Given the description of an element on the screen output the (x, y) to click on. 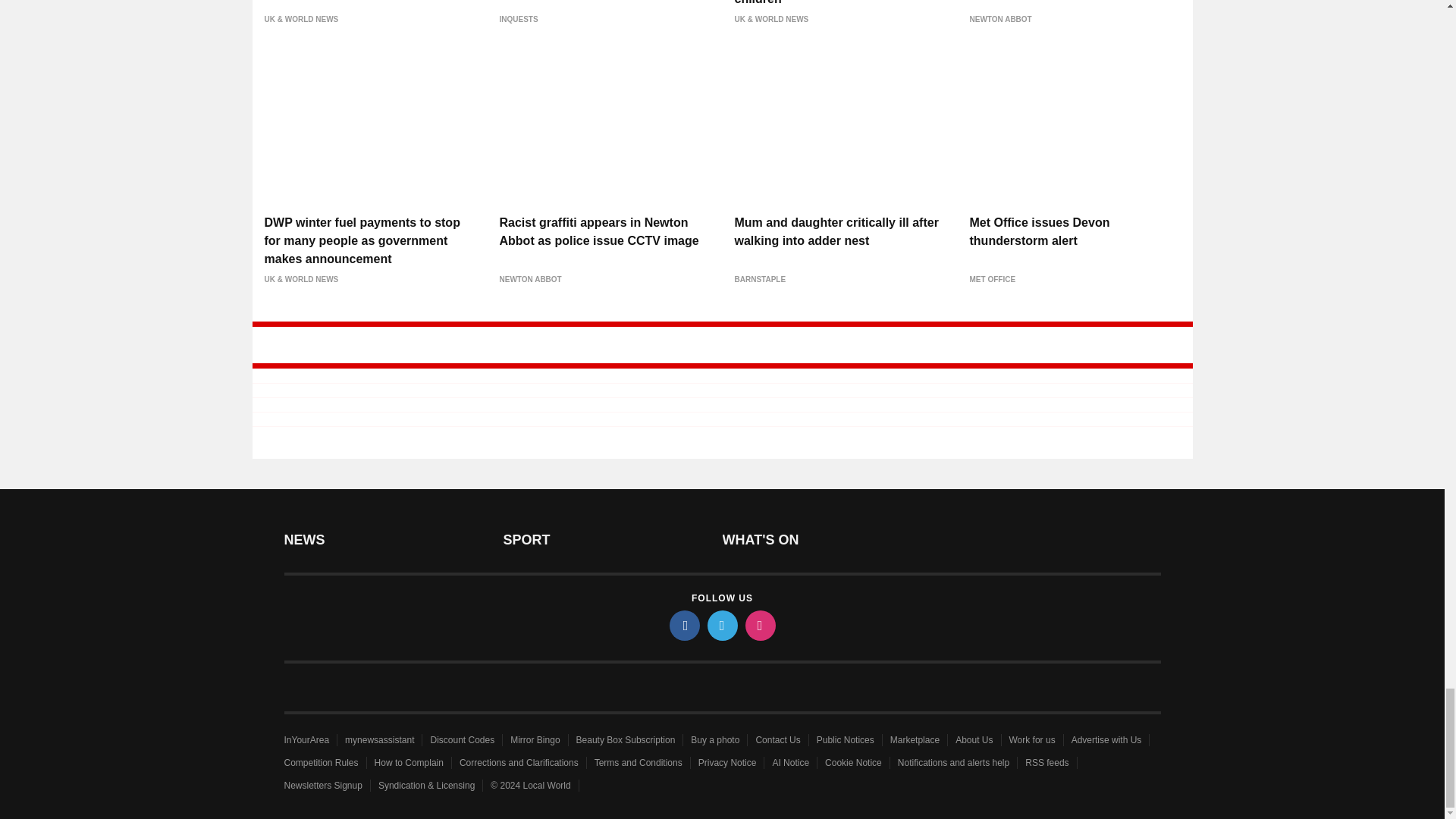
twitter (721, 625)
facebook (683, 625)
instagram (759, 625)
